Given the description of an element on the screen output the (x, y) to click on. 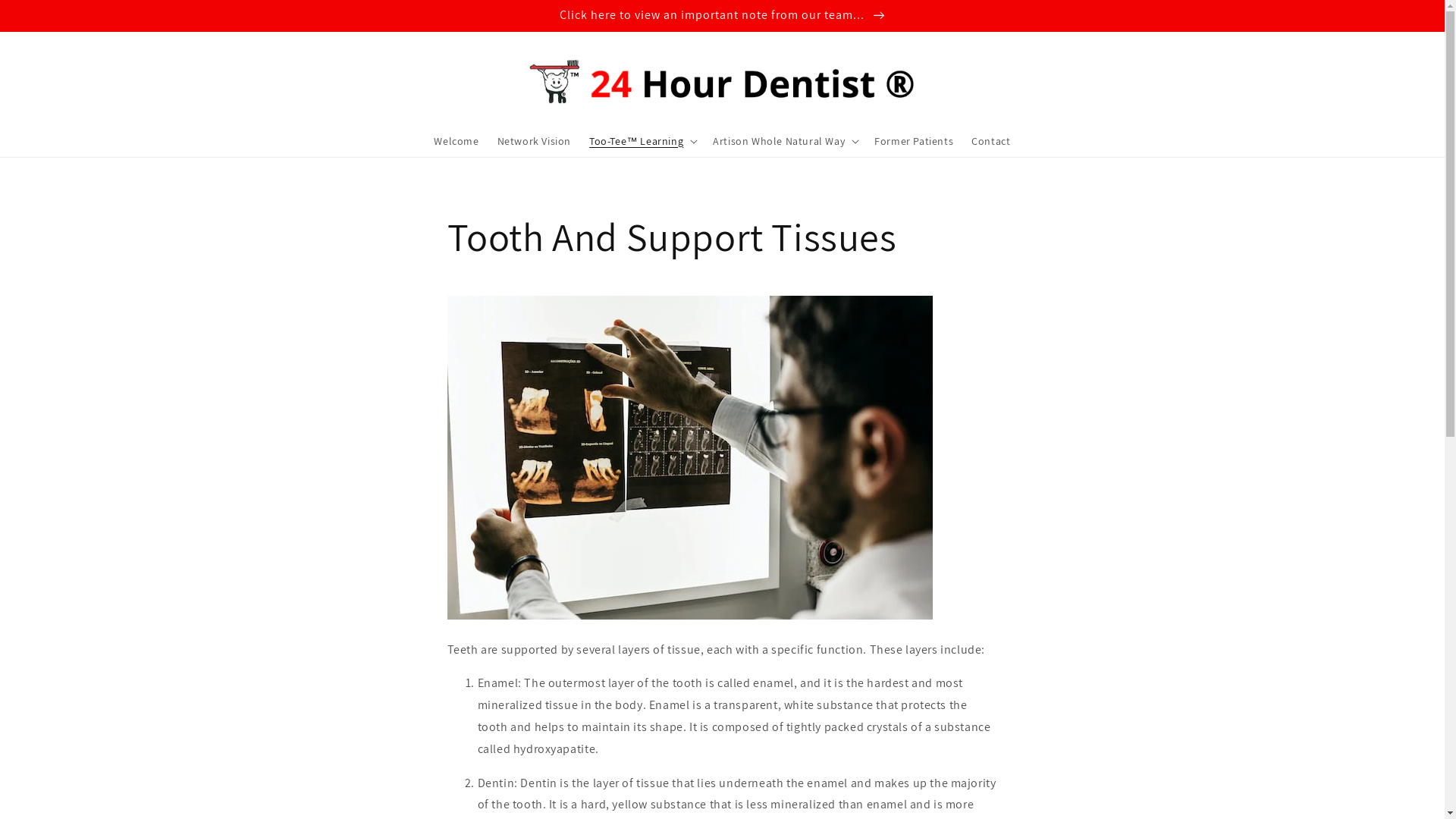
Click here to view an important note from our team... Element type: text (722, 15)
Network Vision Element type: text (534, 140)
Contact Element type: text (990, 140)
Welcome Element type: text (455, 140)
Former Patients Element type: text (913, 140)
